Given the description of an element on the screen output the (x, y) to click on. 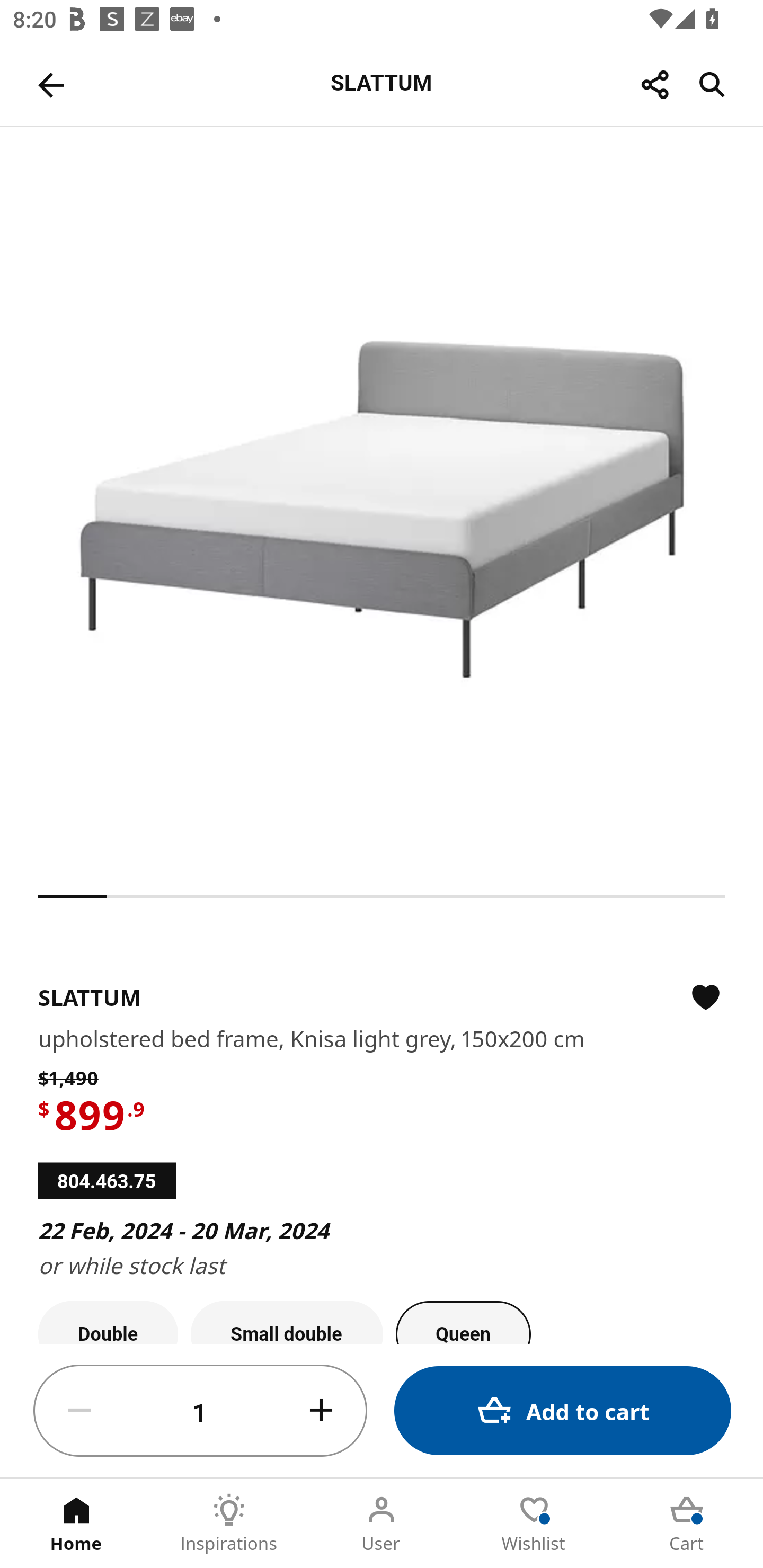
Double (107, 1322)
Small double (286, 1322)
Queen (463, 1322)
Add to cart (562, 1410)
1 (200, 1411)
Home
Tab 1 of 5 (76, 1522)
Inspirations
Tab 2 of 5 (228, 1522)
User
Tab 3 of 5 (381, 1522)
Wishlist
Tab 4 of 5 (533, 1522)
Cart
Tab 5 of 5 (686, 1522)
